Given the description of an element on the screen output the (x, y) to click on. 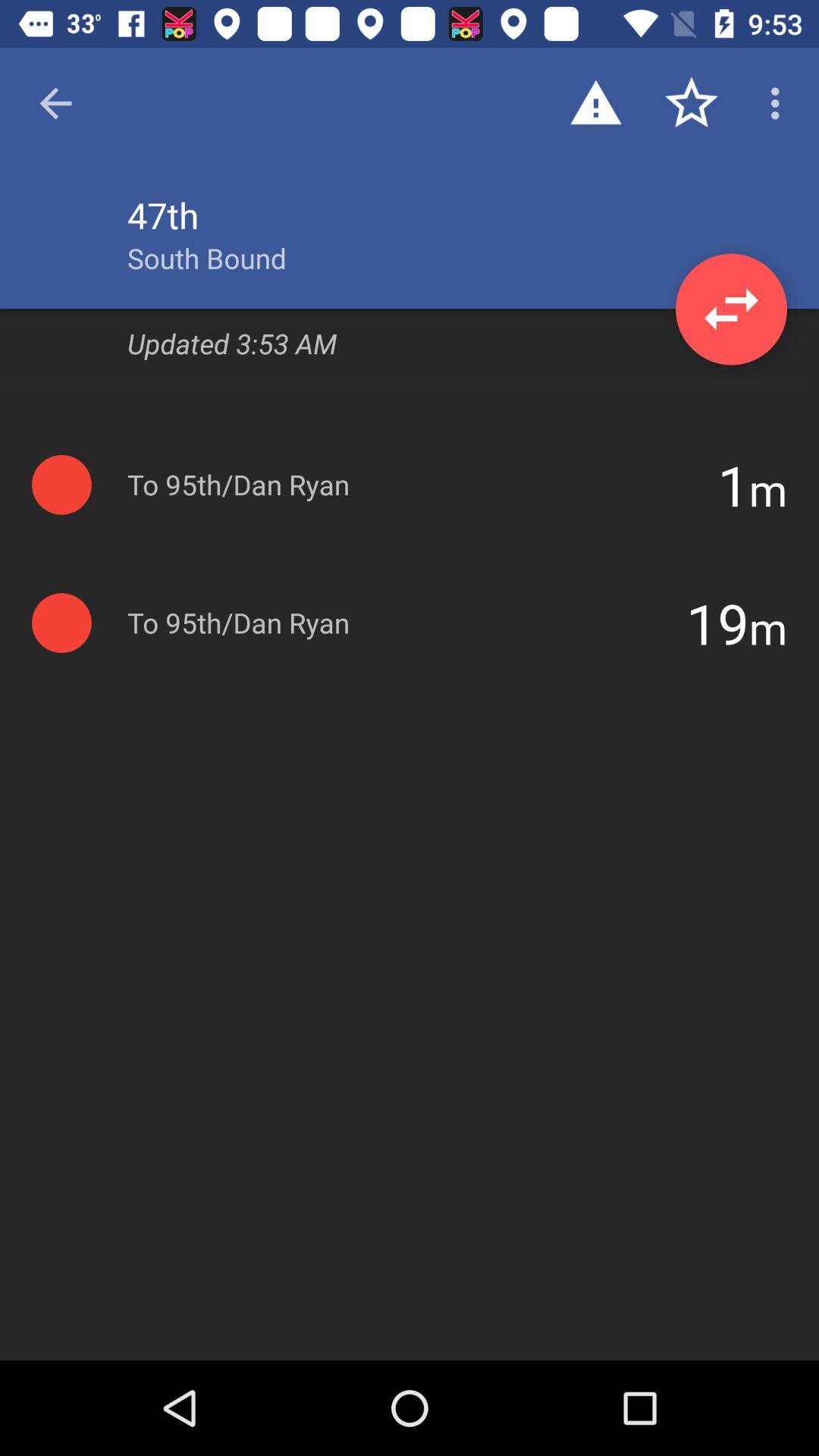
open icon next to the m item (733, 484)
